Given the description of an element on the screen output the (x, y) to click on. 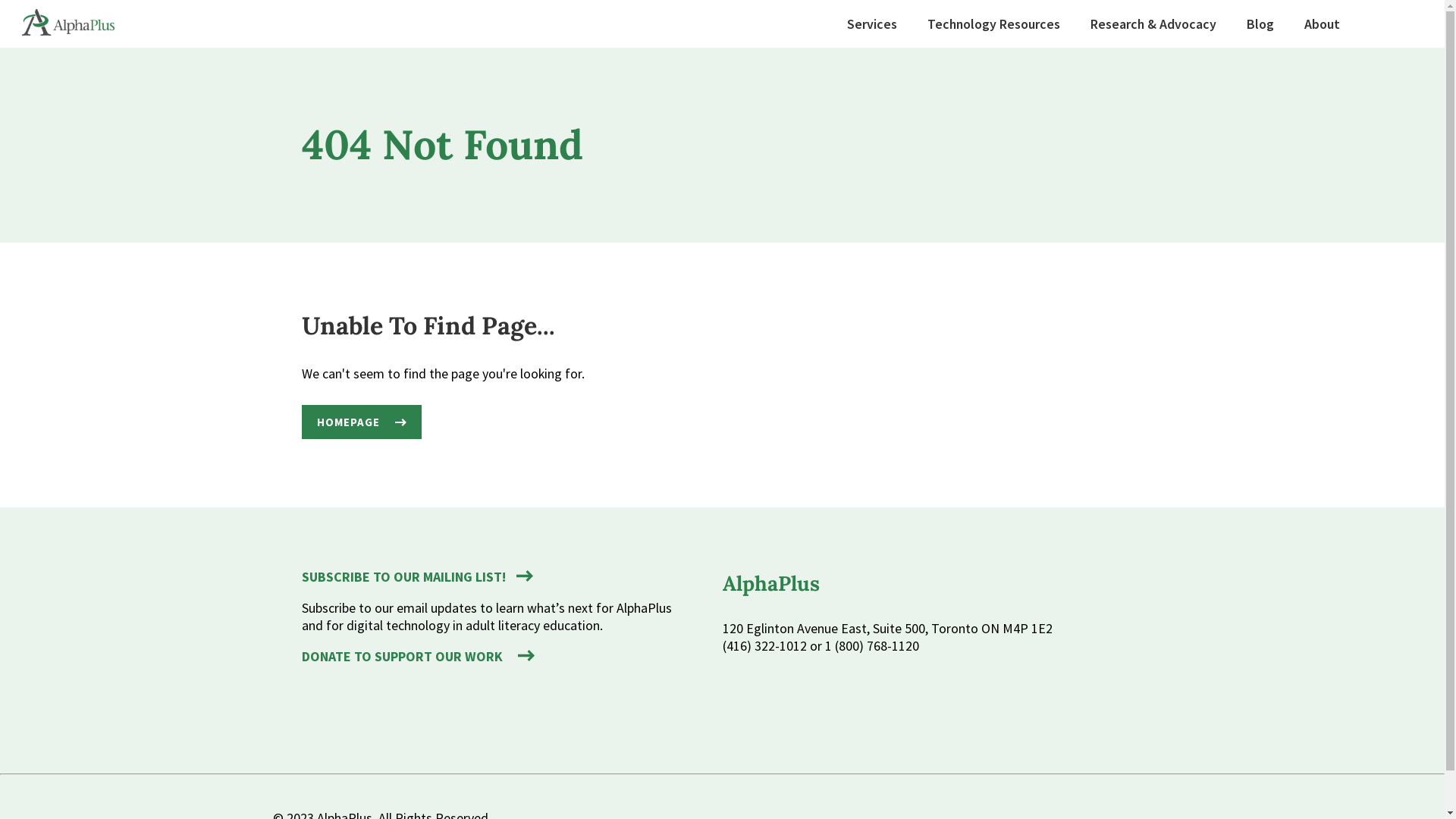
About Element type: text (1321, 23)
Blog Element type: text (1260, 23)
Technology Resources Element type: text (993, 23)
HOMEPAGE Element type: text (361, 421)
Services Element type: text (872, 23)
DONATE TO SUPPORT OUR WORK Element type: text (418, 656)
Research & Advocacy Element type: text (1153, 23)
